Given the description of an element on the screen output the (x, y) to click on. 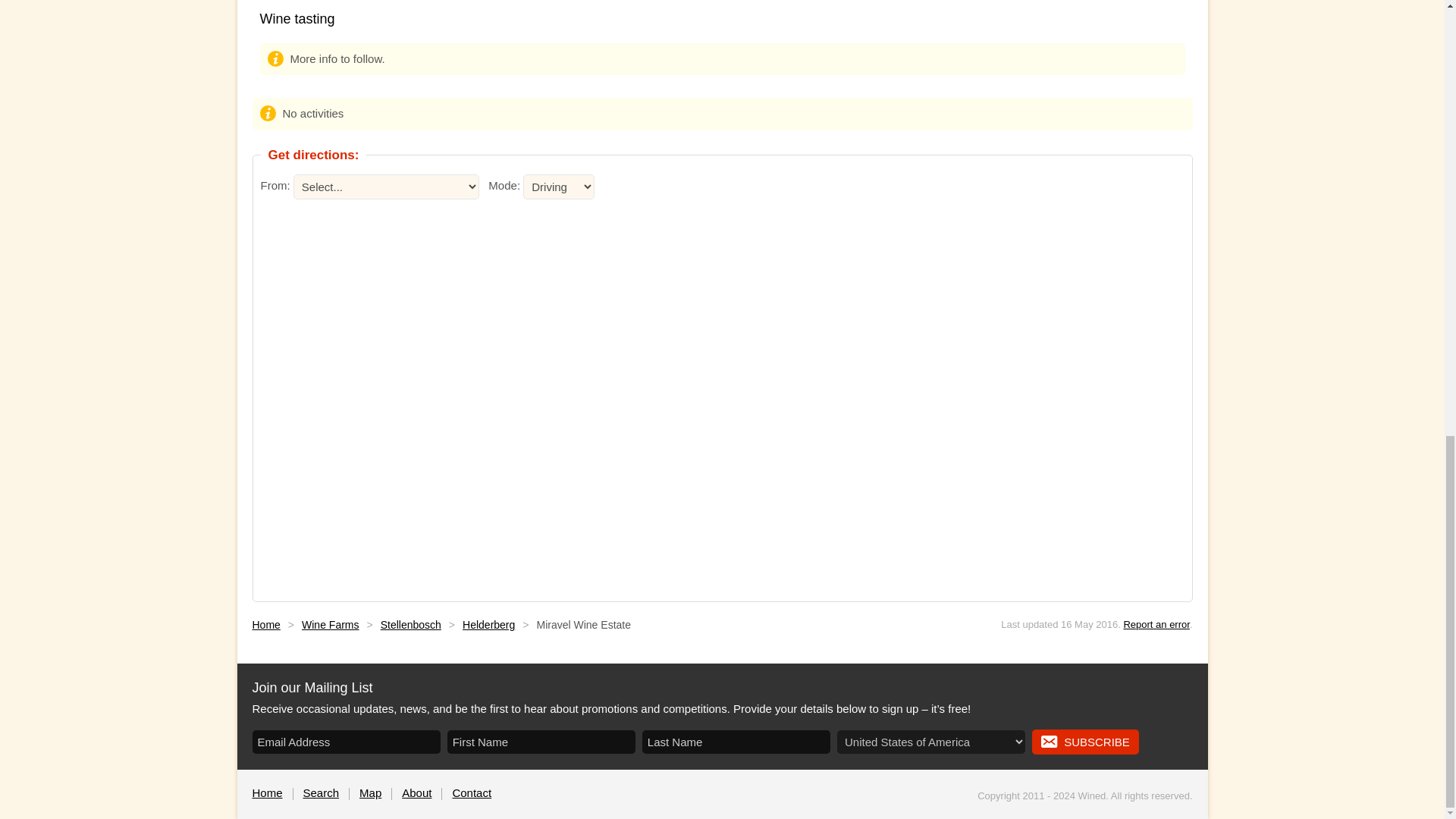
Map (370, 791)
SUBSCRIBE (1085, 741)
Join our Mailing List (311, 687)
Wine Farms (329, 624)
Helderberg (489, 624)
Home (265, 624)
Stellenbosch (410, 624)
About (415, 791)
Search (320, 791)
Last Name (735, 740)
Report an error (1155, 624)
Wine tasting (296, 17)
Home (266, 791)
First Name (540, 740)
Contact (471, 791)
